Given the description of an element on the screen output the (x, y) to click on. 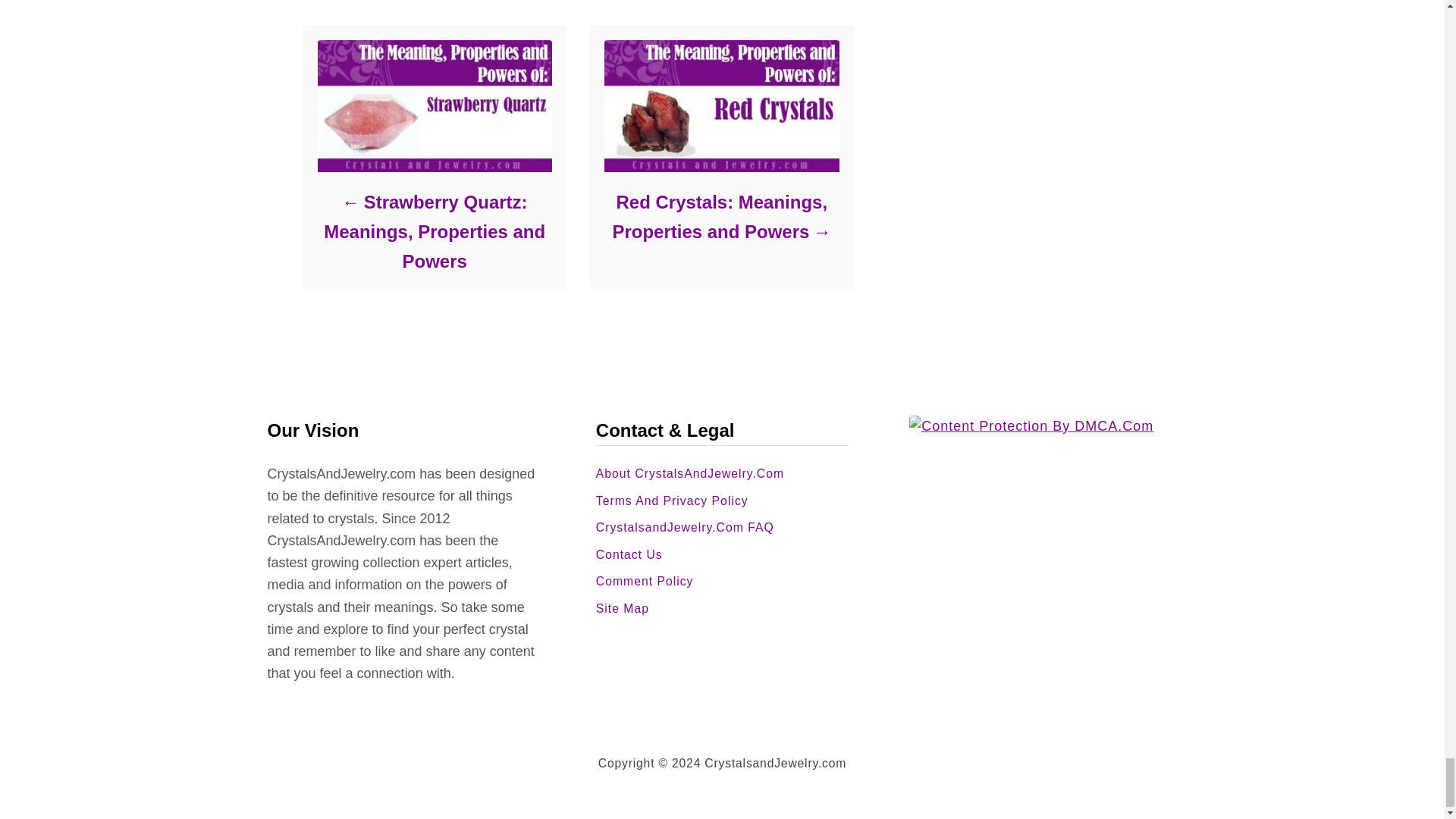
Content Protection by DMCA.com (1042, 426)
Strawberry Quartz: Meanings, Properties and Powers (434, 231)
